Given the description of an element on the screen output the (x, y) to click on. 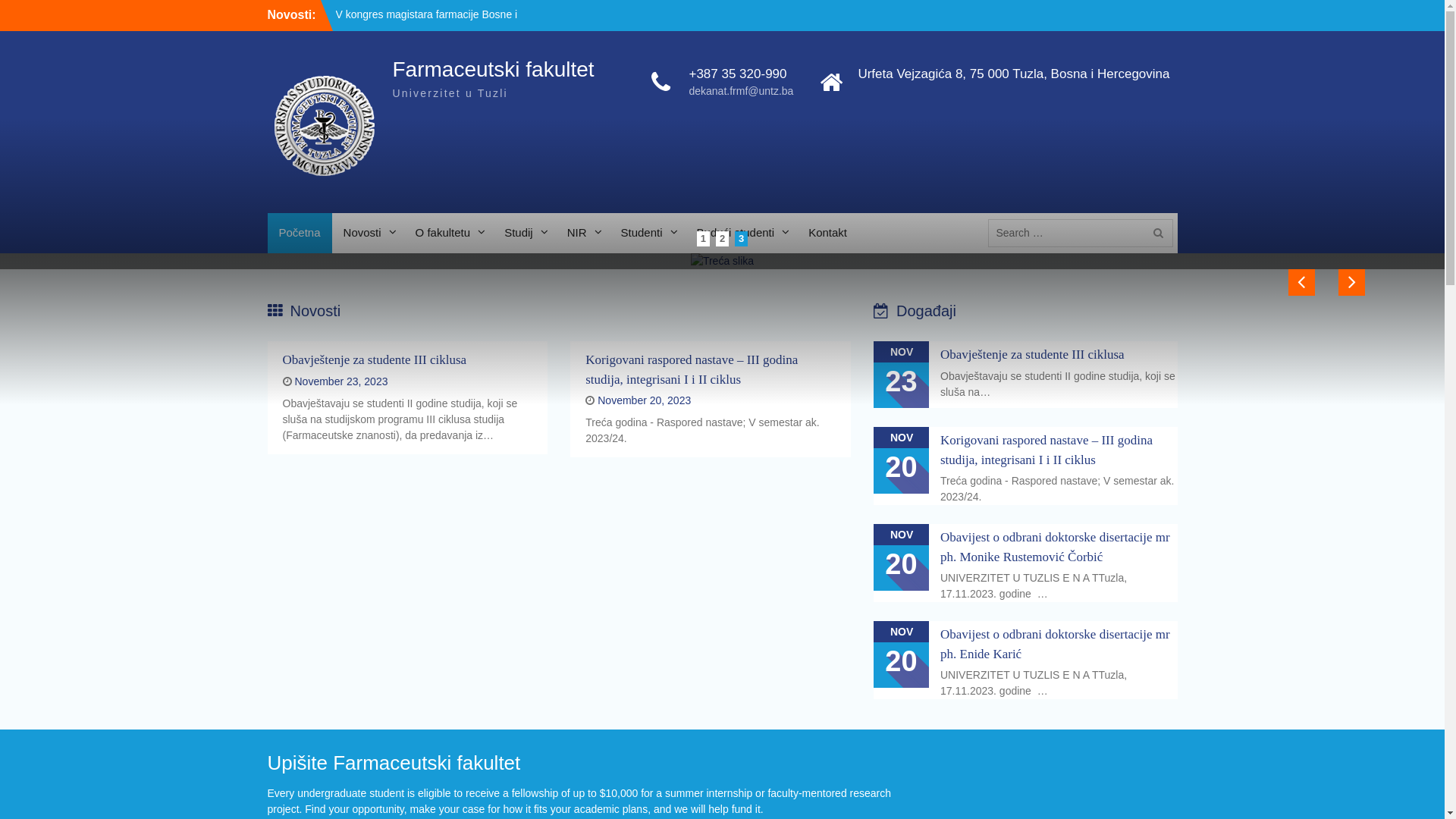
dekanat.frmf@untz.ba Element type: text (740, 91)
November 23, 2023 Element type: text (340, 381)
Novosti Element type: text (368, 233)
November 20, 2023 Element type: text (643, 400)
NIR Element type: text (582, 233)
Kontakt Element type: text (827, 233)
Studenti Element type: text (647, 233)
Studij Element type: text (523, 233)
O fakultetu Element type: text (448, 233)
+387 35 320-990 Element type: text (740, 74)
Farmaceutski fakultet Element type: text (493, 69)
